Given the description of an element on the screen output the (x, y) to click on. 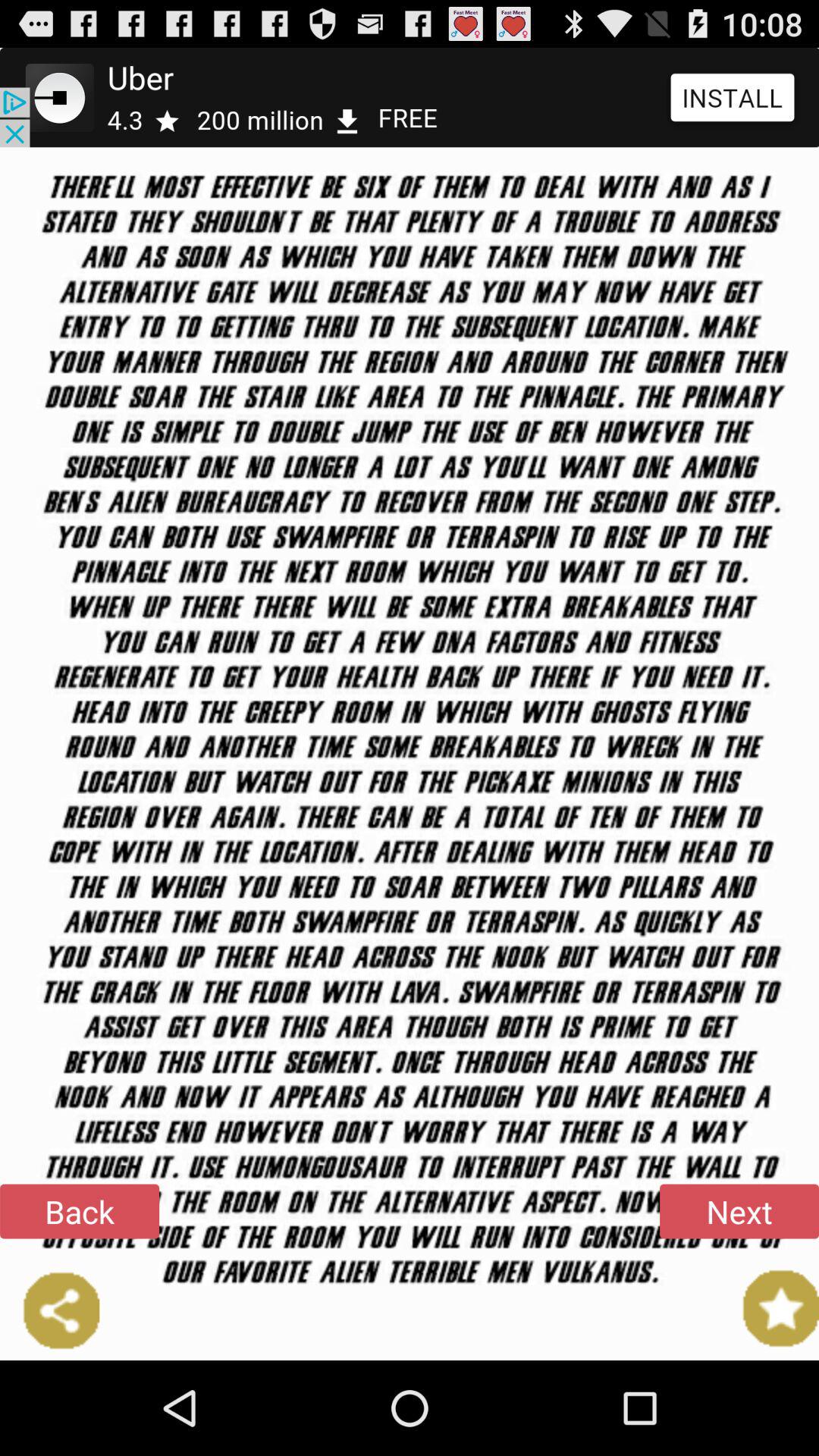
press back (79, 1211)
